Given the description of an element on the screen output the (x, y) to click on. 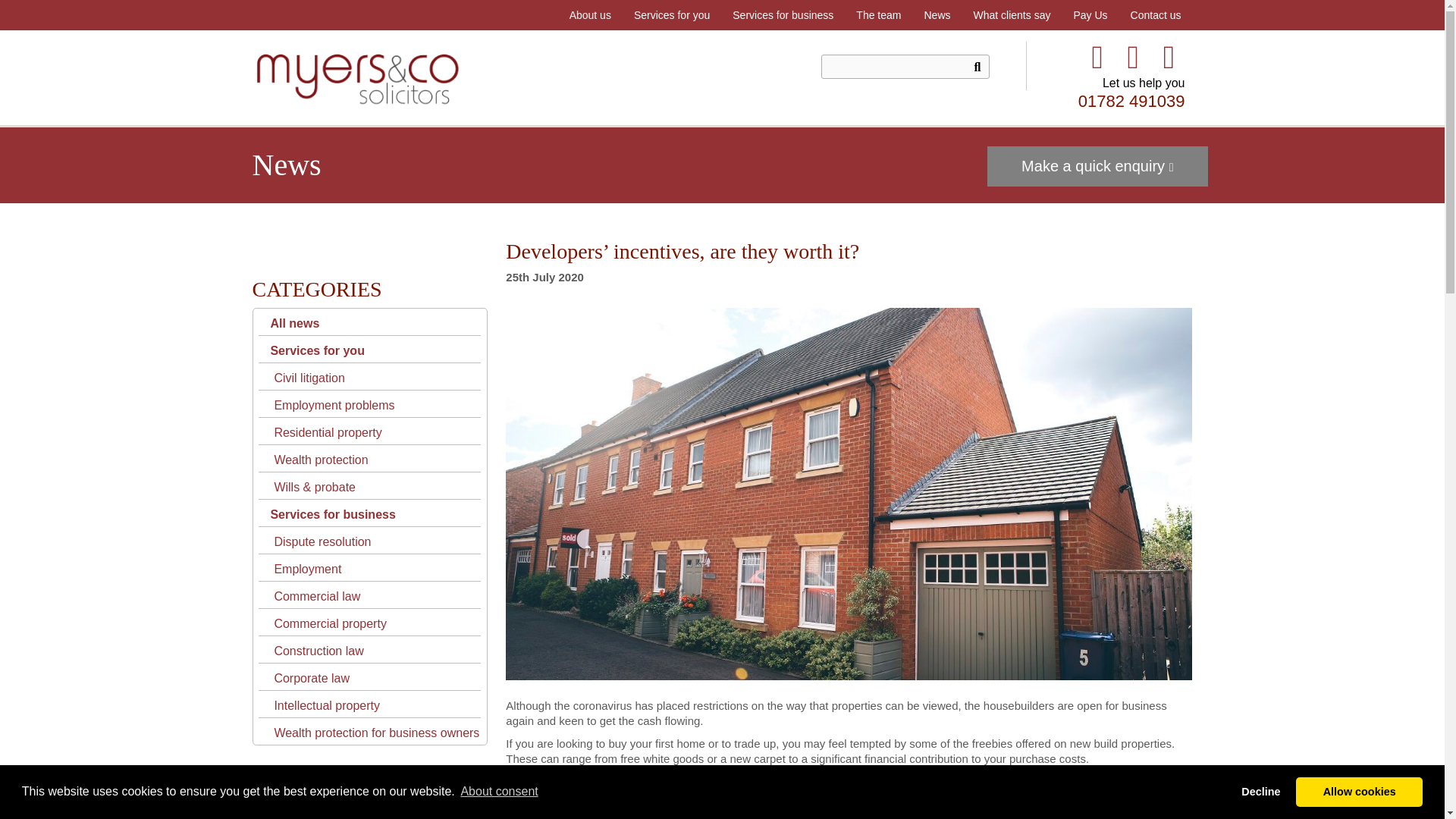
Allow cookies (1358, 791)
Services for business (782, 15)
About us (590, 15)
Decline (1260, 791)
About consent (499, 791)
Contact us (1155, 15)
The team (878, 15)
Pay Us (1089, 15)
Services for you (671, 15)
What clients say (1010, 15)
News (936, 15)
